Given the description of an element on the screen output the (x, y) to click on. 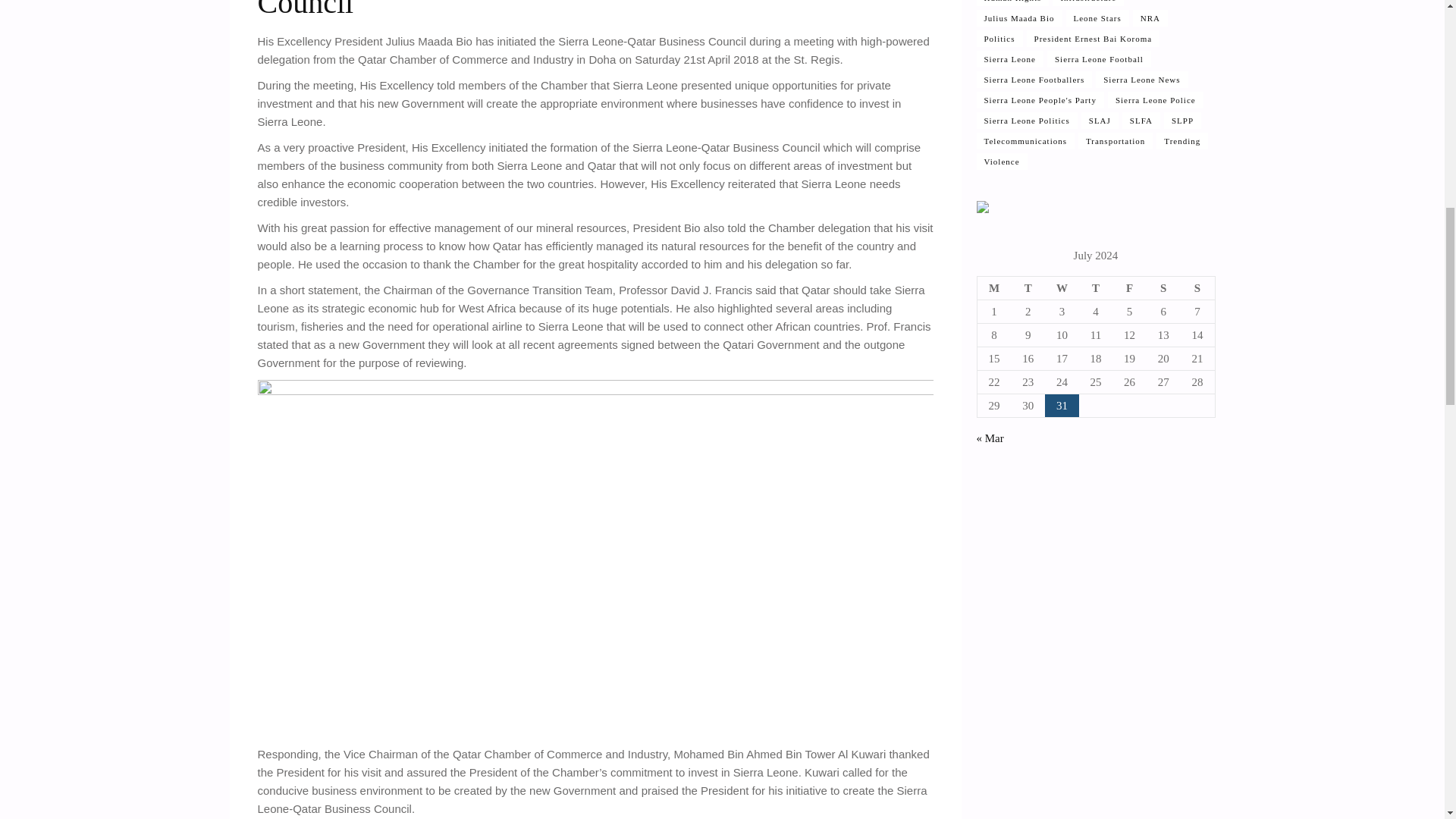
Saturday (1163, 288)
Tuesday (1028, 288)
Sunday (1196, 288)
Friday (1129, 288)
Internet Programming Solutions - A SaloneTech Company (982, 209)
Wednesday (1061, 288)
Monday (993, 288)
Thursday (1095, 288)
